Given the description of an element on the screen output the (x, y) to click on. 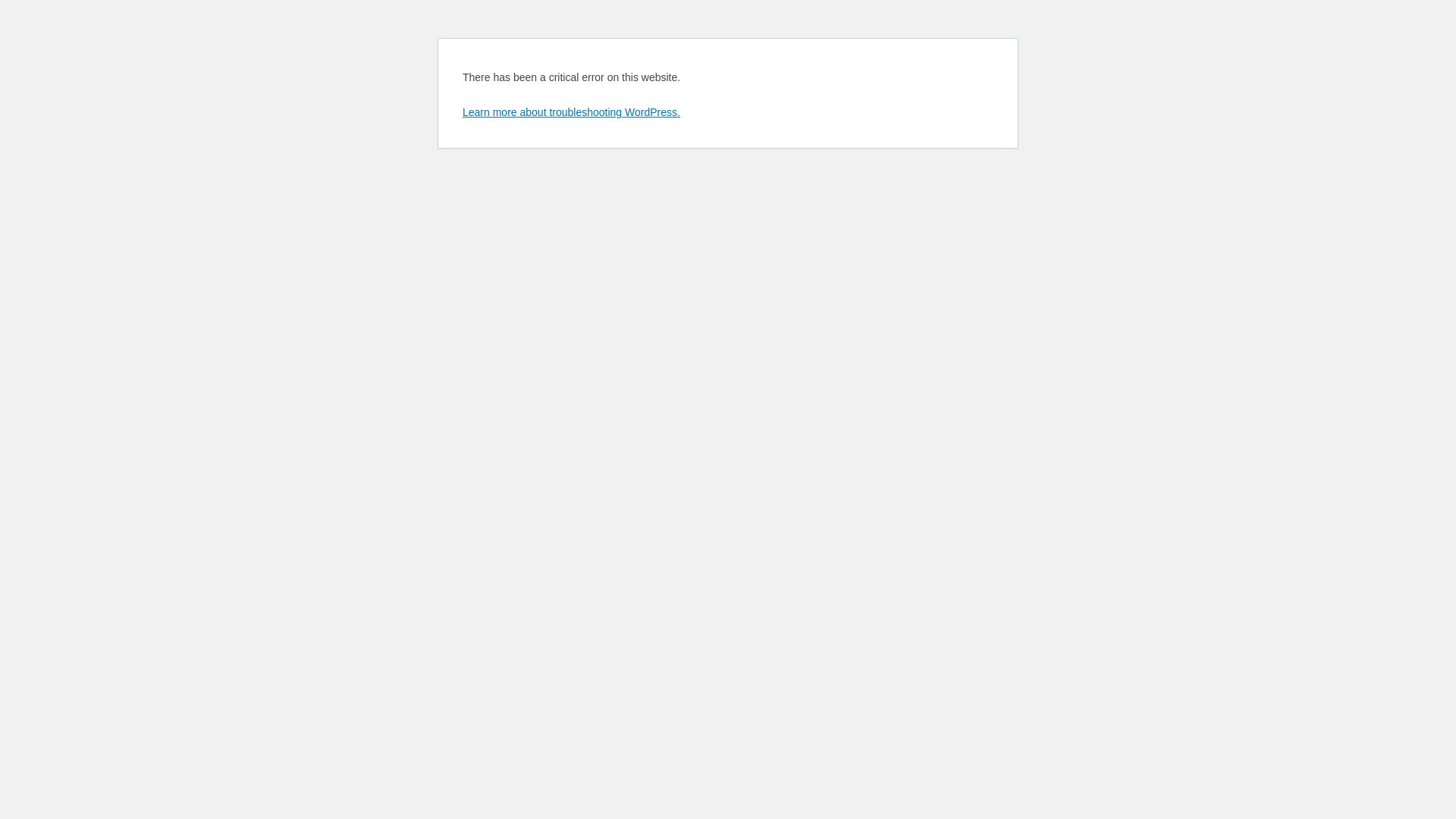
Learn more about troubleshooting WordPress. Element type: text (571, 112)
